Given the description of an element on the screen output the (x, y) to click on. 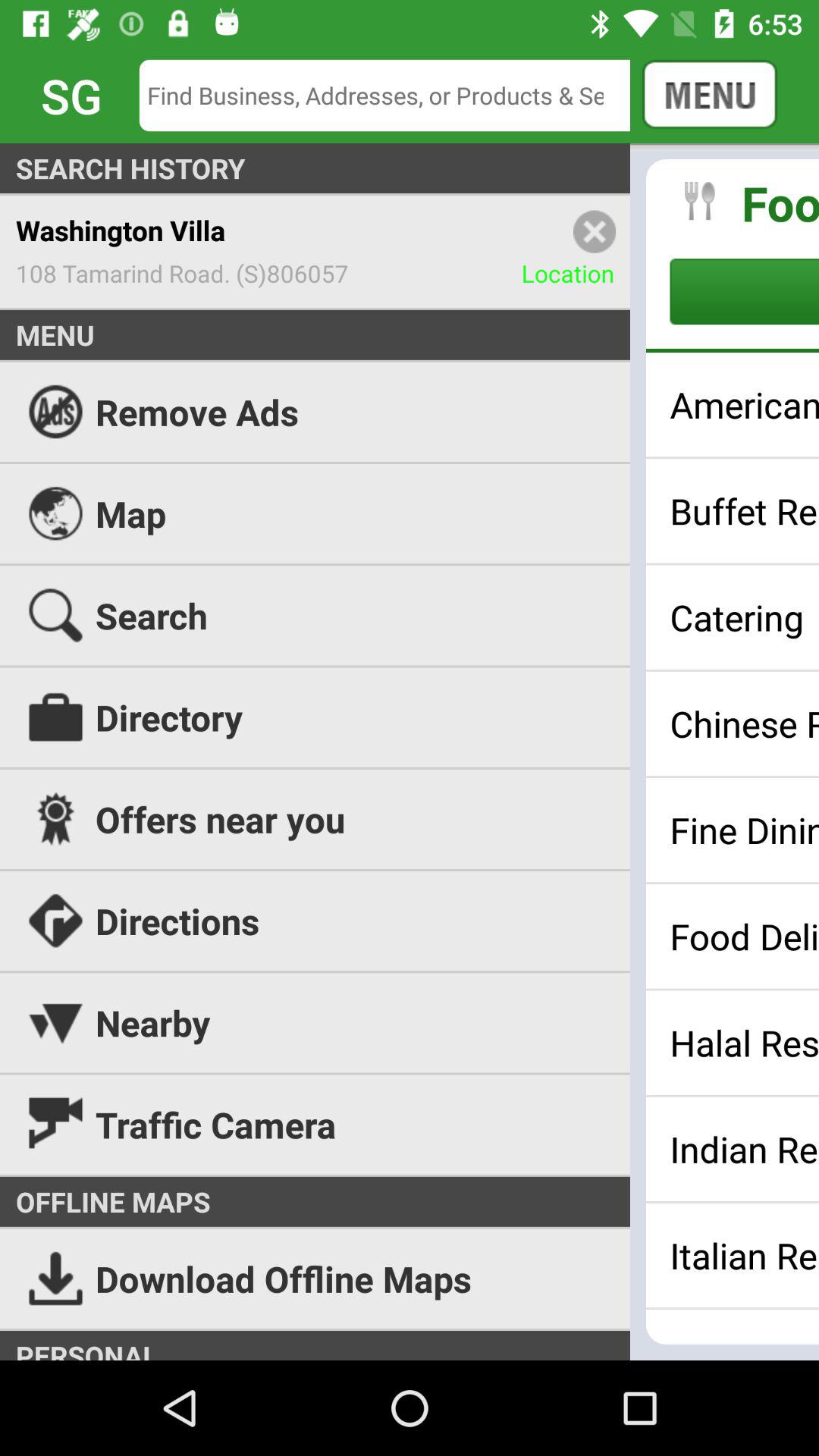
click browse category (744, 291)
